Given the description of an element on the screen output the (x, y) to click on. 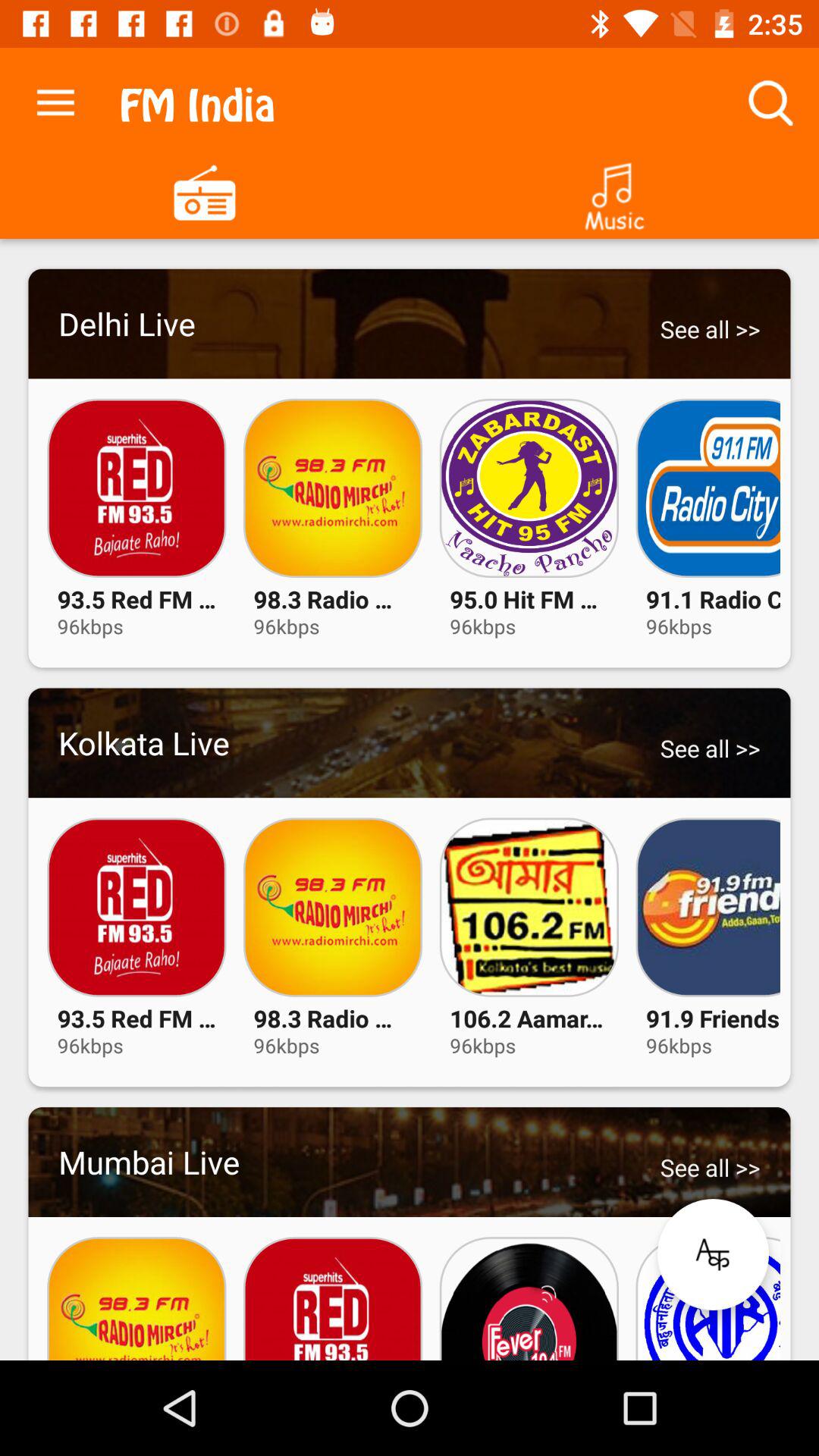
turn on the app next to fm india item (55, 99)
